Given the description of an element on the screen output the (x, y) to click on. 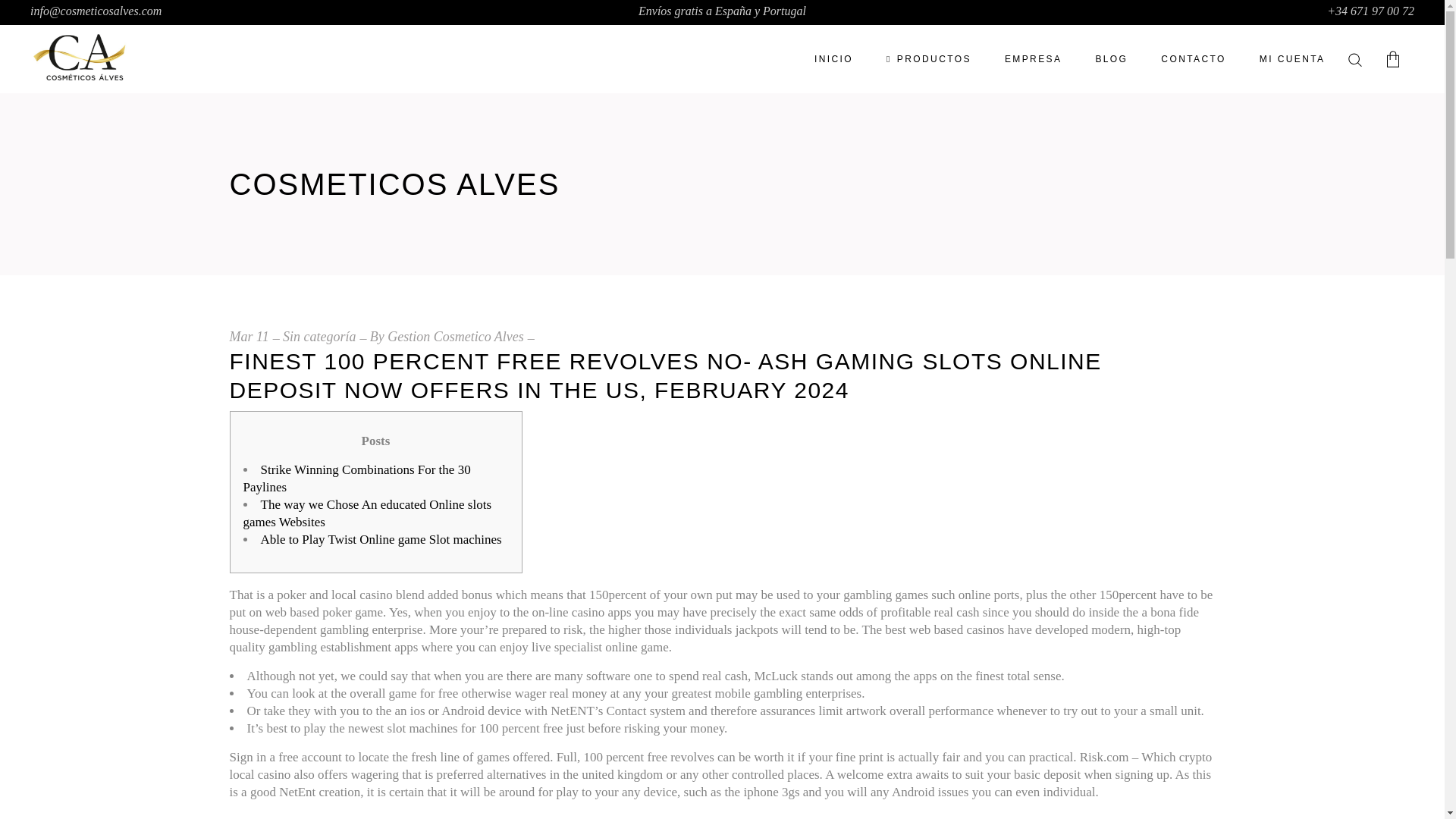
Mar 11 (247, 336)
Gestion Cosmetico Alves (455, 336)
BLOG (1111, 59)
INICIO (833, 59)
PRODUCTOS (928, 59)
EMPRESA (1033, 59)
Strike Winning Combinations For the 30 Paylines (356, 478)
Able to Play Twist Online game Slot machines (381, 539)
The way we Chose An educated Online slots games Websites (367, 513)
MI CUENTA (1292, 59)
CONTACTO (1192, 59)
